Given the description of an element on the screen output the (x, y) to click on. 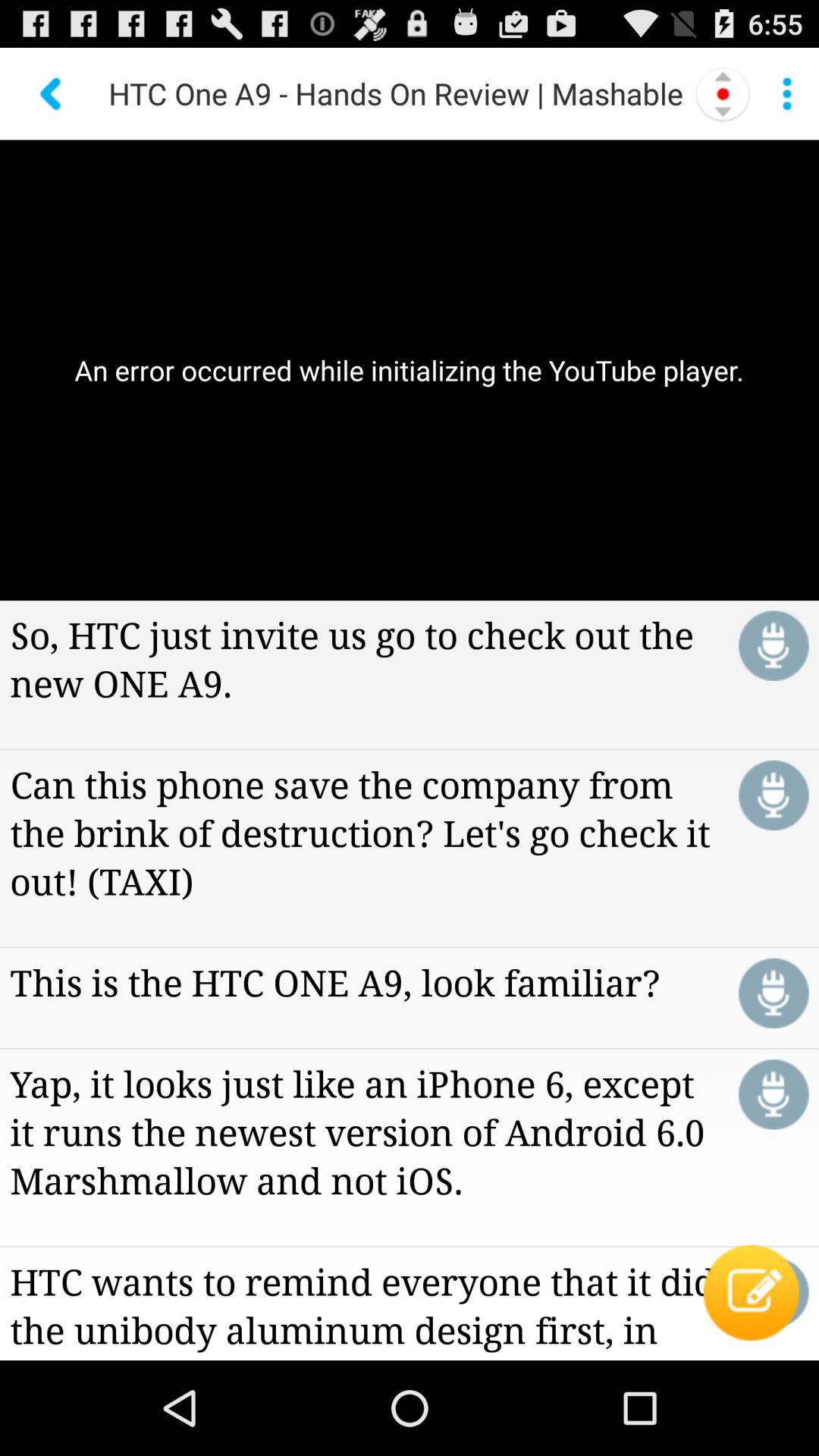
click for voice activation (773, 993)
